Given the description of an element on the screen output the (x, y) to click on. 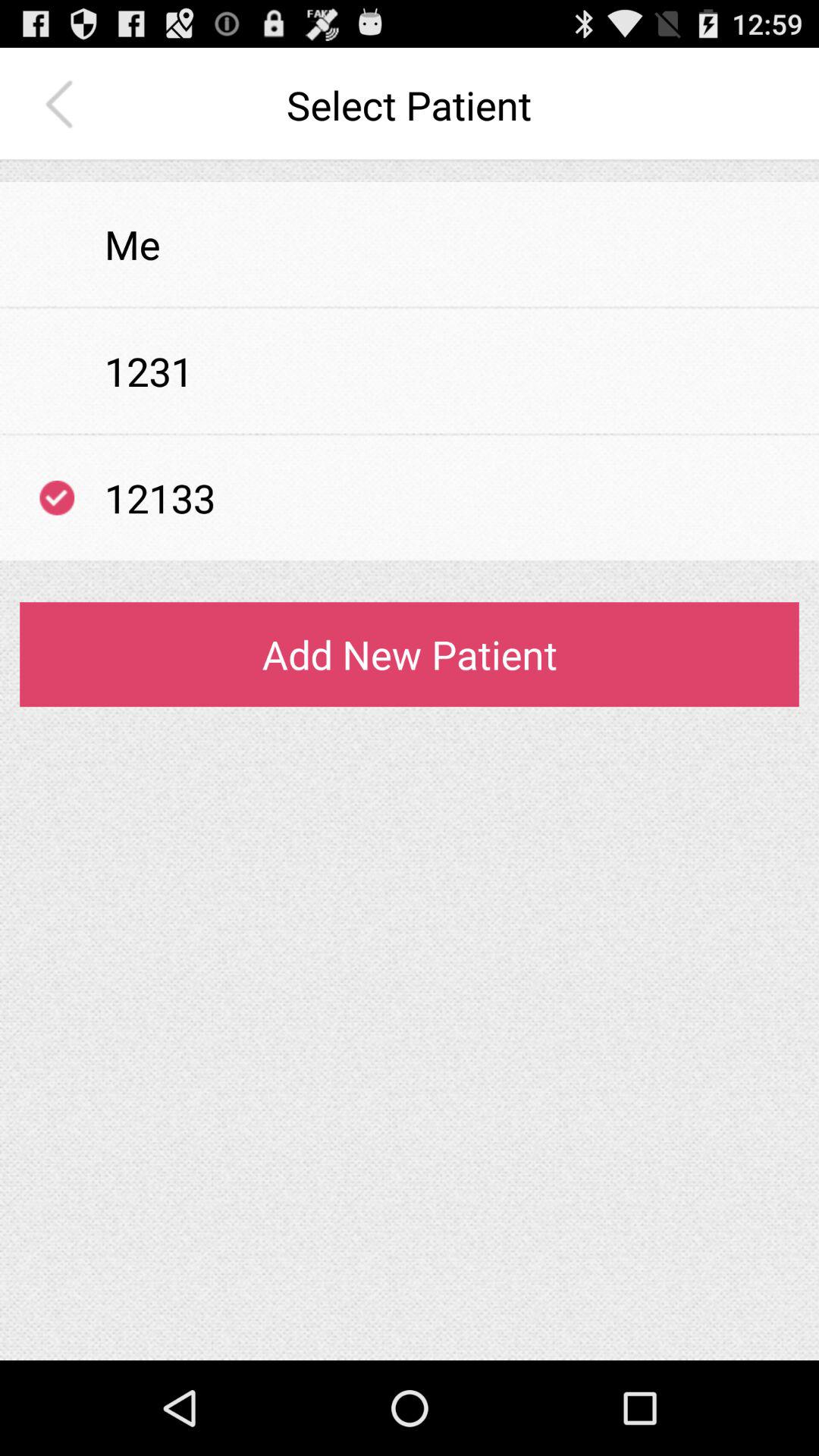
choose app below the me icon (409, 307)
